Given the description of an element on the screen output the (x, y) to click on. 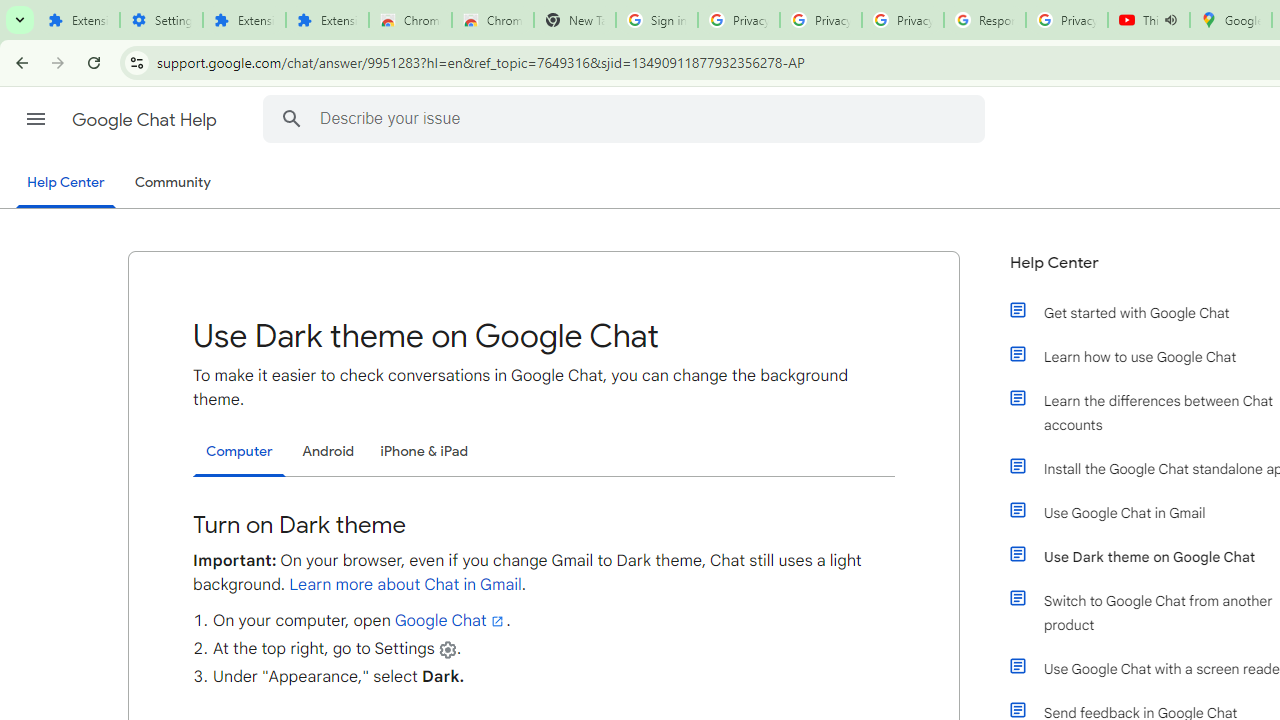
Describe your issue (626, 118)
Settings (161, 20)
Extensions (326, 20)
Search Help Center (291, 118)
Help Center (65, 183)
Extensions (78, 20)
Computer (239, 451)
Chrome Web Store - Themes (492, 20)
Google Chat Help (146, 119)
Android (328, 451)
